Given the description of an element on the screen output the (x, y) to click on. 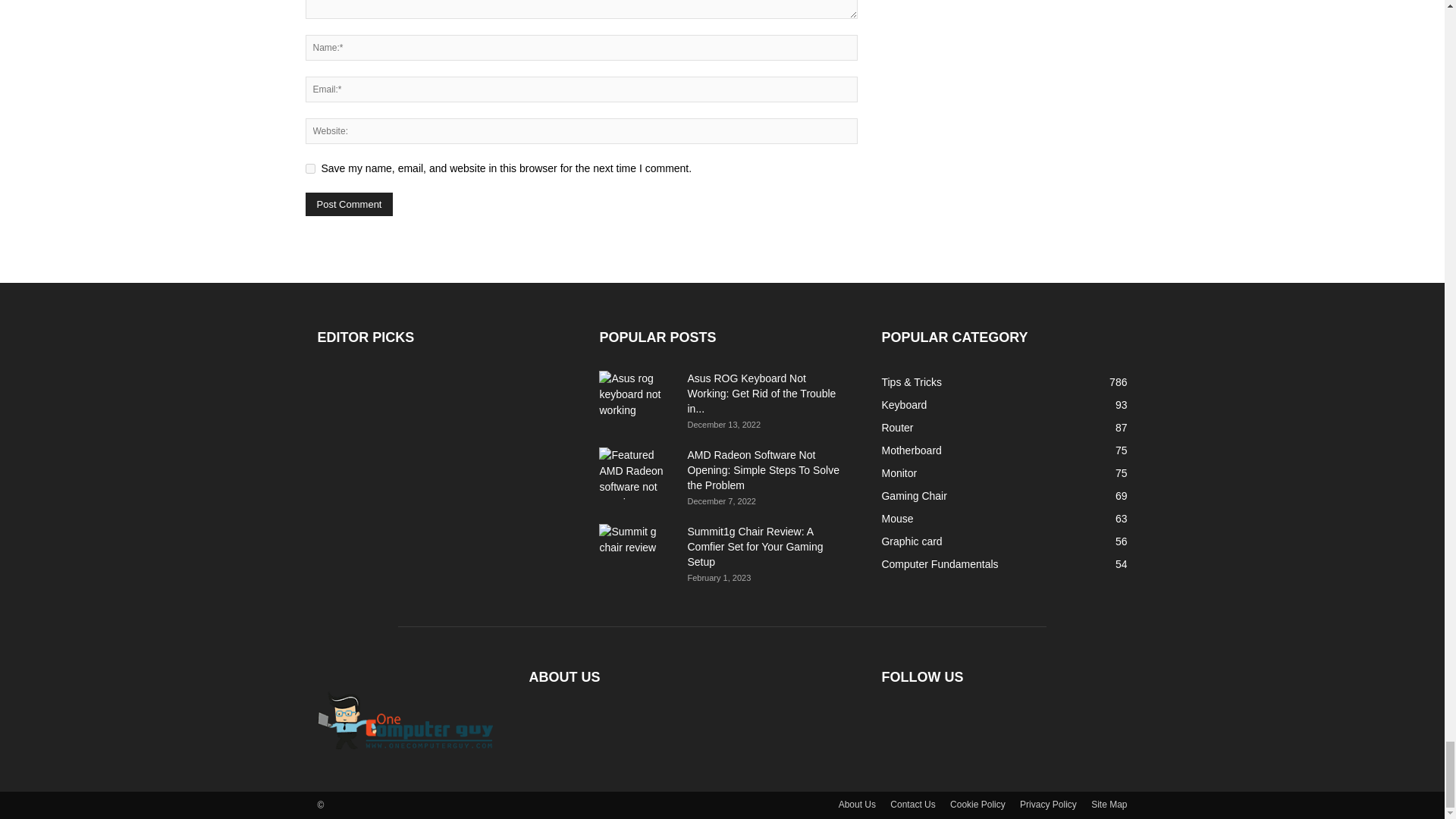
yes (309, 168)
Post Comment (348, 204)
